Given the description of an element on the screen output the (x, y) to click on. 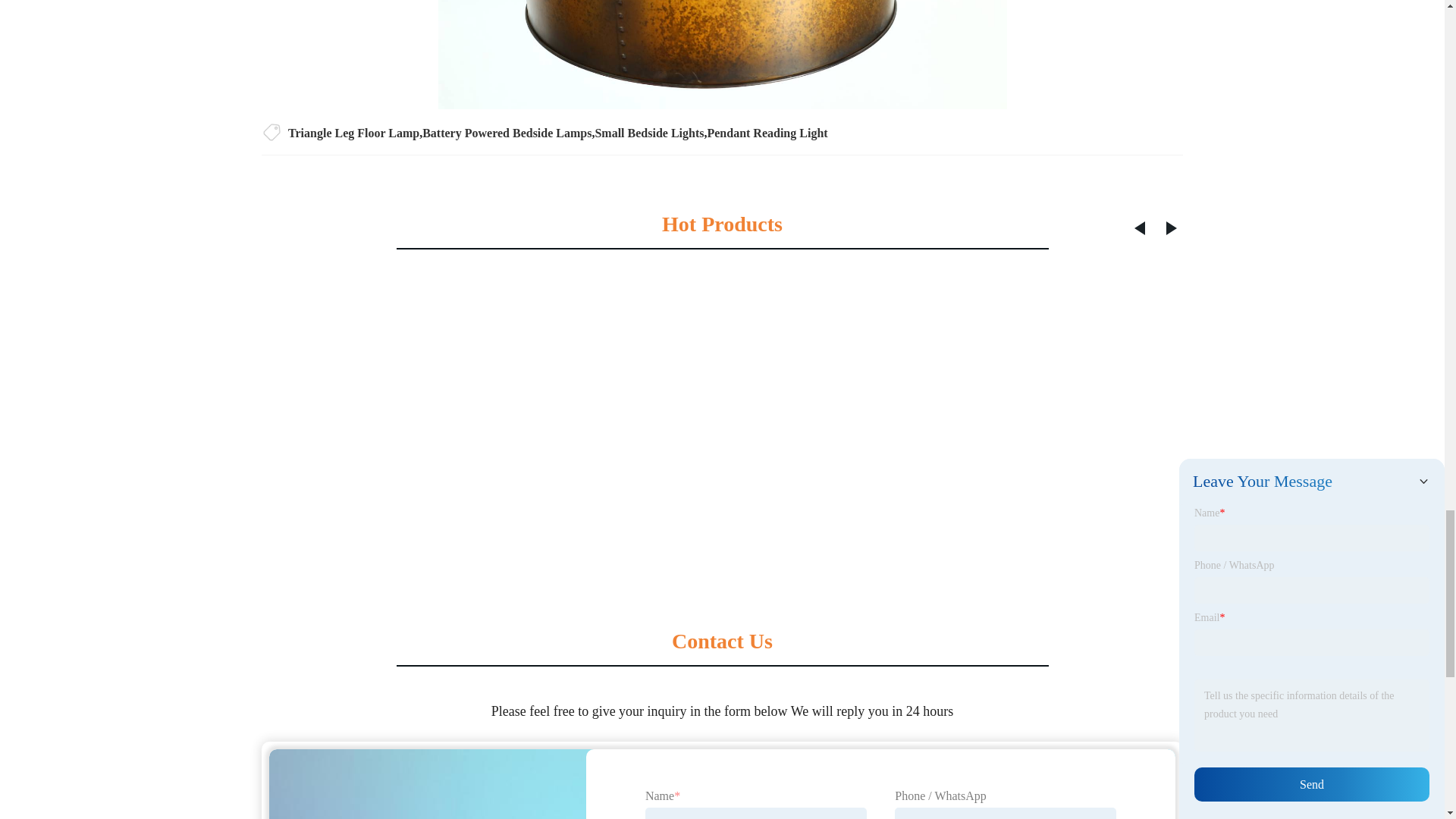
Small Bedside Lights (648, 132)
Battery Powered Bedside Lamps (506, 132)
Pendant Reading Light (766, 132)
Triangle Leg Floor Lamp (353, 132)
